Given the description of an element on the screen output the (x, y) to click on. 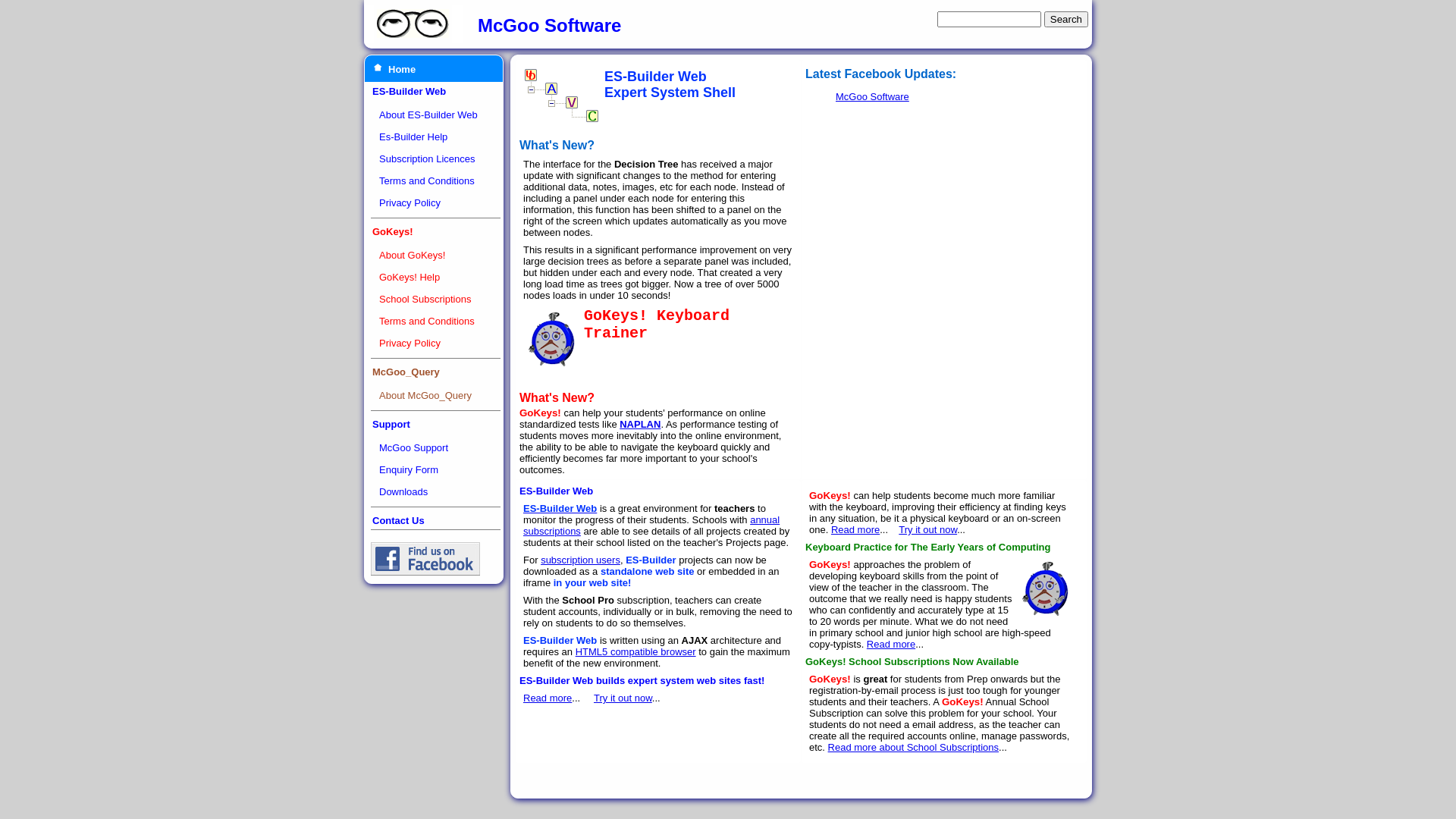
ES-Builder Web Element type: text (559, 508)
Read more Element type: text (890, 643)
McGoo Support Element type: text (413, 447)
Search Element type: text (1066, 19)
NAPLAN Element type: text (639, 423)
Read more Element type: text (855, 529)
Read more Element type: text (547, 697)
stoppy image Element type: hover (1044, 588)
School Subscriptions Element type: text (424, 298)
Try it out now Element type: text (927, 529)
GoKeys! Element type: text (392, 231)
About ES-Builder Web Element type: text (428, 114)
About GoKeys! Element type: text (412, 254)
annual subscriptions Element type: text (651, 525)
GoKeys! Help Element type: text (409, 276)
Try it out now Element type: text (622, 697)
Subscription Licences Element type: text (426, 158)
Privacy Policy Element type: text (409, 202)
subscription users Element type: text (580, 559)
Contact Us Element type: text (398, 520)
Enquiry Form Element type: text (408, 469)
Es-Builder Help Element type: text (413, 136)
Terms and Conditions Element type: text (426, 320)
McGoo_Query Element type: text (405, 371)
McGoo Software Element type: text (872, 96)
About McGoo_Query Element type: text (425, 395)
Home Element type: text (401, 69)
Support Element type: text (391, 423)
tree Element type: hover (561, 96)
Terms and Conditions Element type: text (426, 180)
HTML5 compatible browser Element type: text (635, 651)
Read more about School Subscriptions Element type: text (913, 747)
Downloads Element type: text (403, 491)
ES-Builder Web Element type: text (408, 91)
Privacy Policy Element type: text (409, 342)
GoKeys! Element type: hover (551, 338)
